Given the description of an element on the screen output the (x, y) to click on. 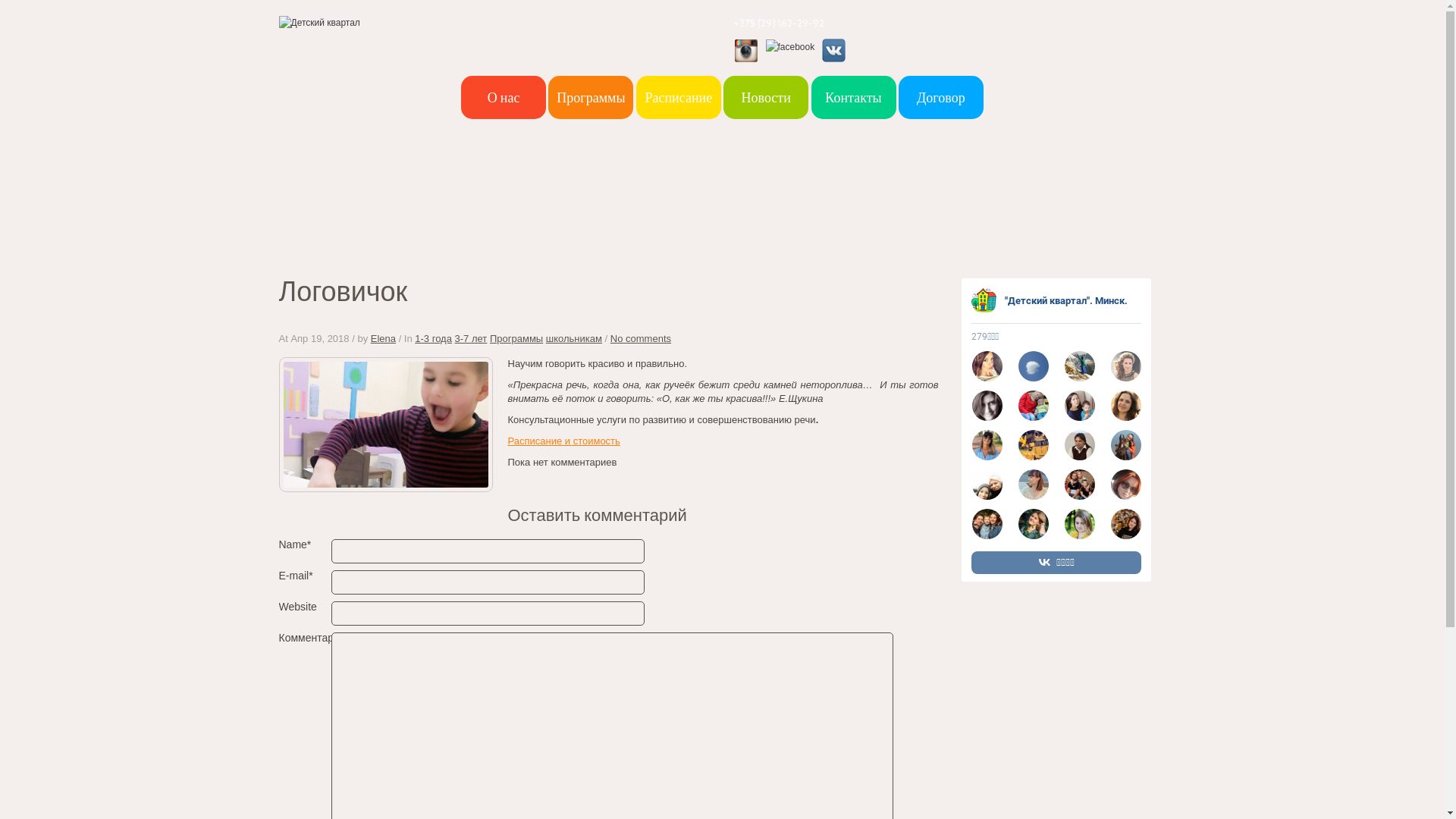
Elena Element type: text (382, 338)
No comments Element type: text (640, 338)
